Given the description of an element on the screen output the (x, y) to click on. 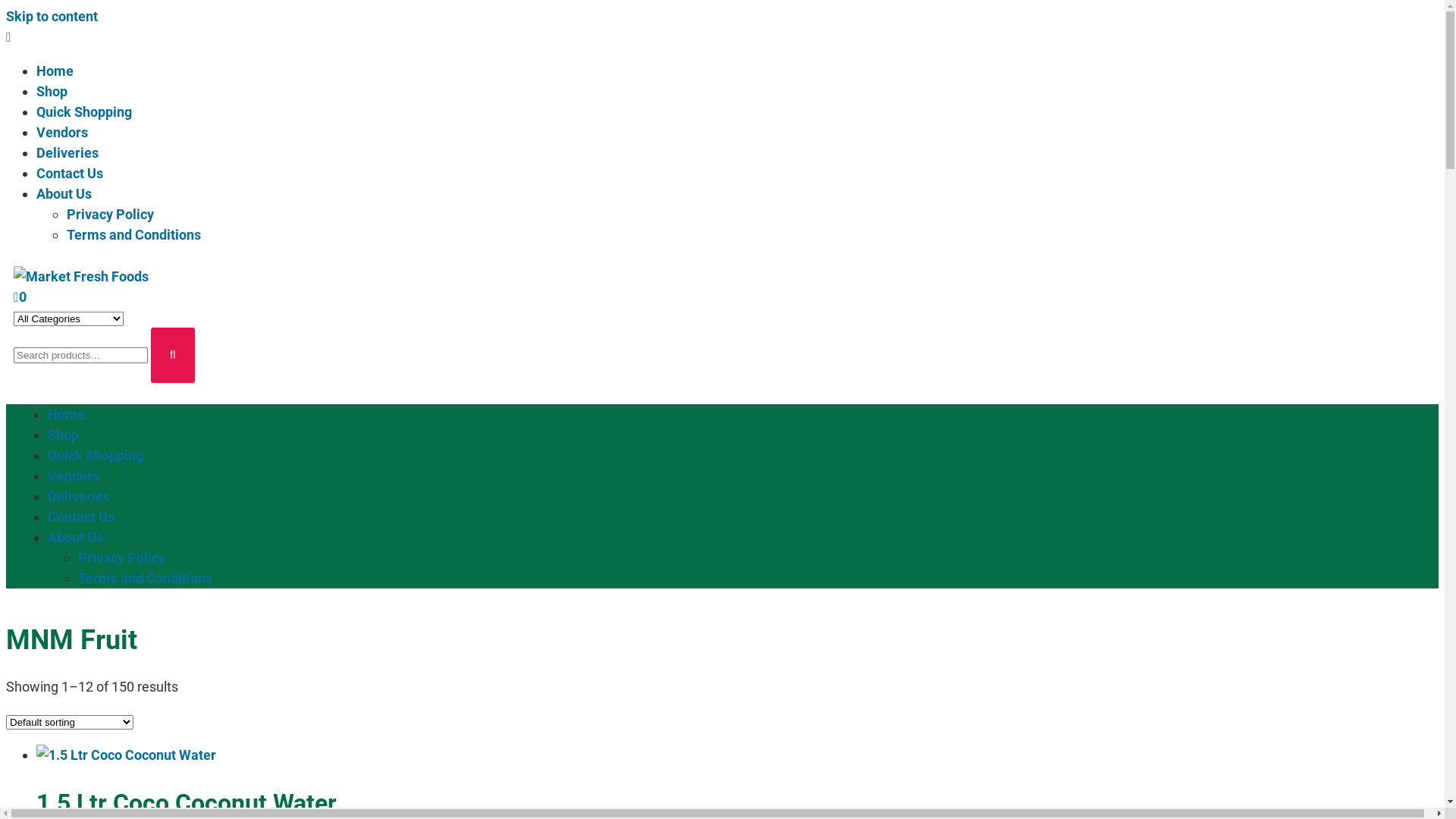
Home Element type: text (54, 70)
Deliveries Element type: text (67, 152)
MNM Drinks 1.5 Ltr Coco Coconut Water Coco Element type: hover (126, 754)
Terms and Conditions Element type: text (145, 578)
Shop Element type: text (62, 434)
Quick Shopping Element type: text (83, 111)
MNM Drinks 1.5 Ltr Coco Coconut Water Coco Element type: hover (80, 276)
Home Element type: text (65, 414)
Quick Shopping Element type: text (95, 455)
Terms and Conditions Element type: text (133, 234)
About Us Element type: text (75, 537)
Vendors Element type: text (73, 475)
Contact Us Element type: text (80, 516)
Privacy Policy Element type: text (109, 214)
Contact Us Element type: text (69, 173)
Shop Element type: text (51, 91)
Vendors Element type: text (61, 132)
Deliveries Element type: text (78, 496)
0 Element type: text (19, 296)
Privacy Policy Element type: text (121, 556)
About Us Element type: text (63, 193)
Skip to content Element type: text (51, 16)
